Given the description of an element on the screen output the (x, y) to click on. 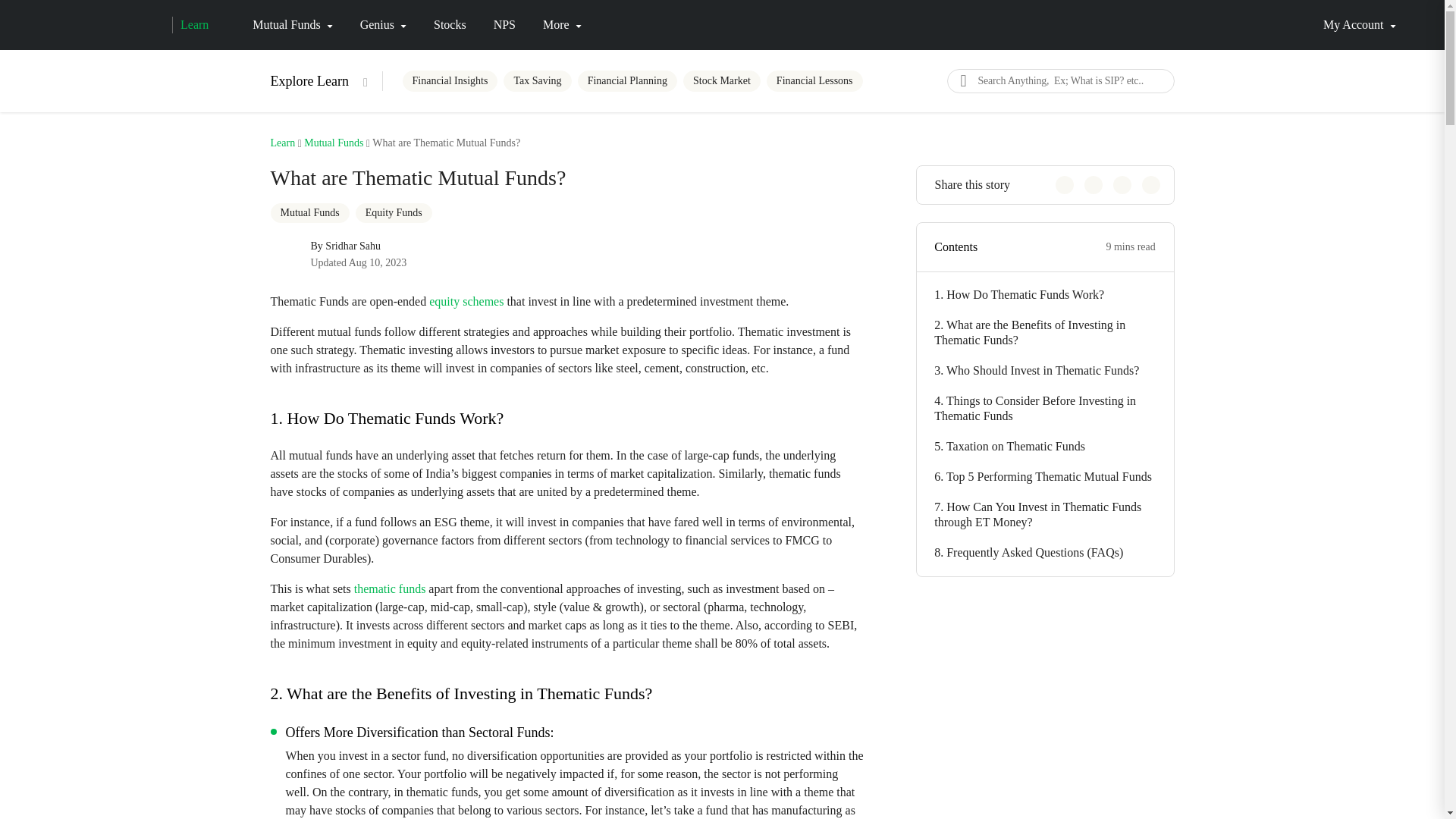
Search (961, 80)
ET Money (104, 24)
Stocks (449, 24)
Learn (189, 24)
Search (961, 80)
NPS (504, 24)
